Given the description of an element on the screen output the (x, y) to click on. 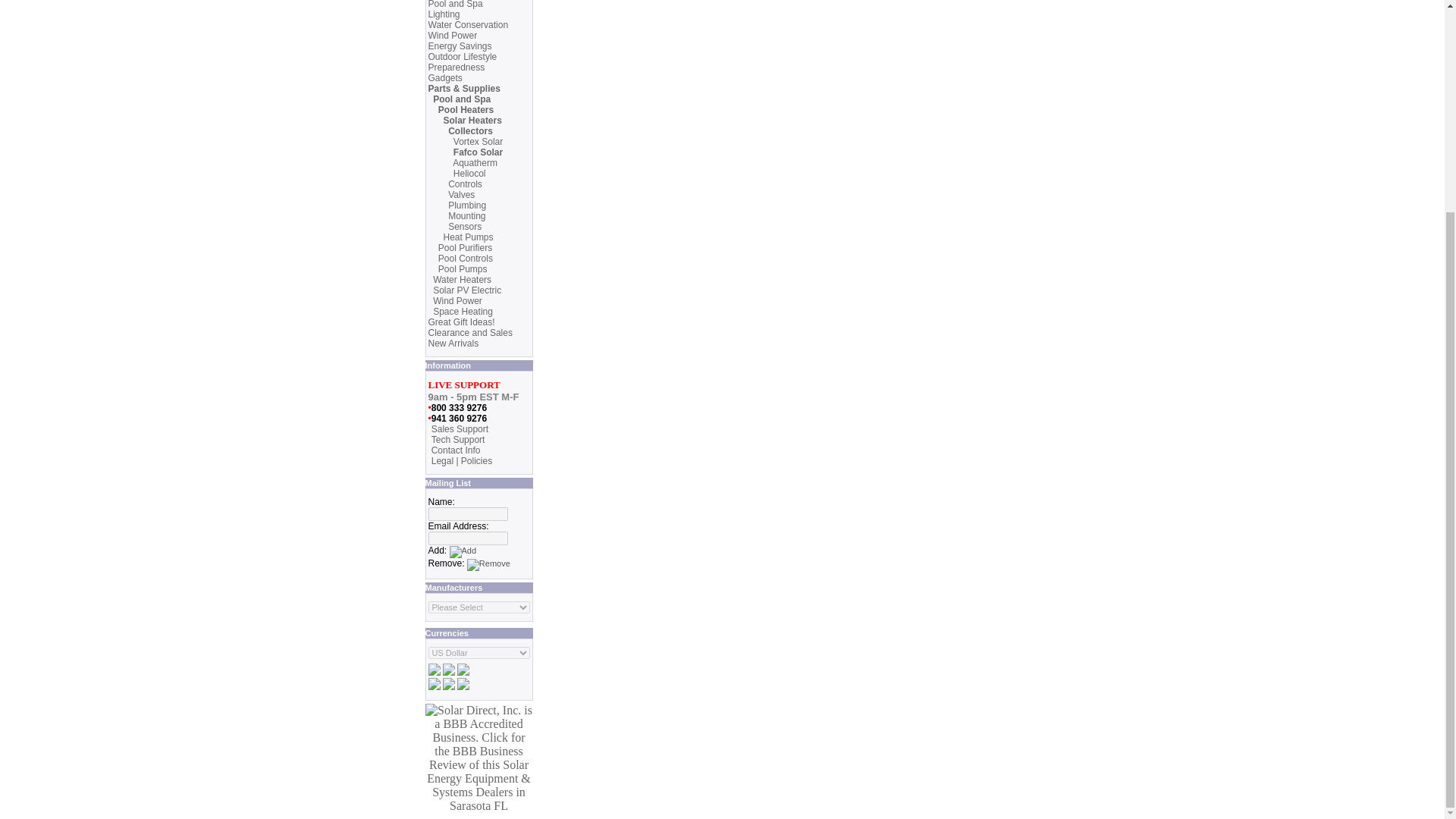
Heliocol (469, 173)
Valves (461, 194)
Water Conservation (468, 24)
Wind Power (452, 35)
Outdoor Lifestyle (462, 56)
 Add  (463, 551)
Aquatherm (474, 163)
Sensors (464, 226)
Pool and Spa (454, 4)
Pool and Spa (461, 99)
